Given the description of an element on the screen output the (x, y) to click on. 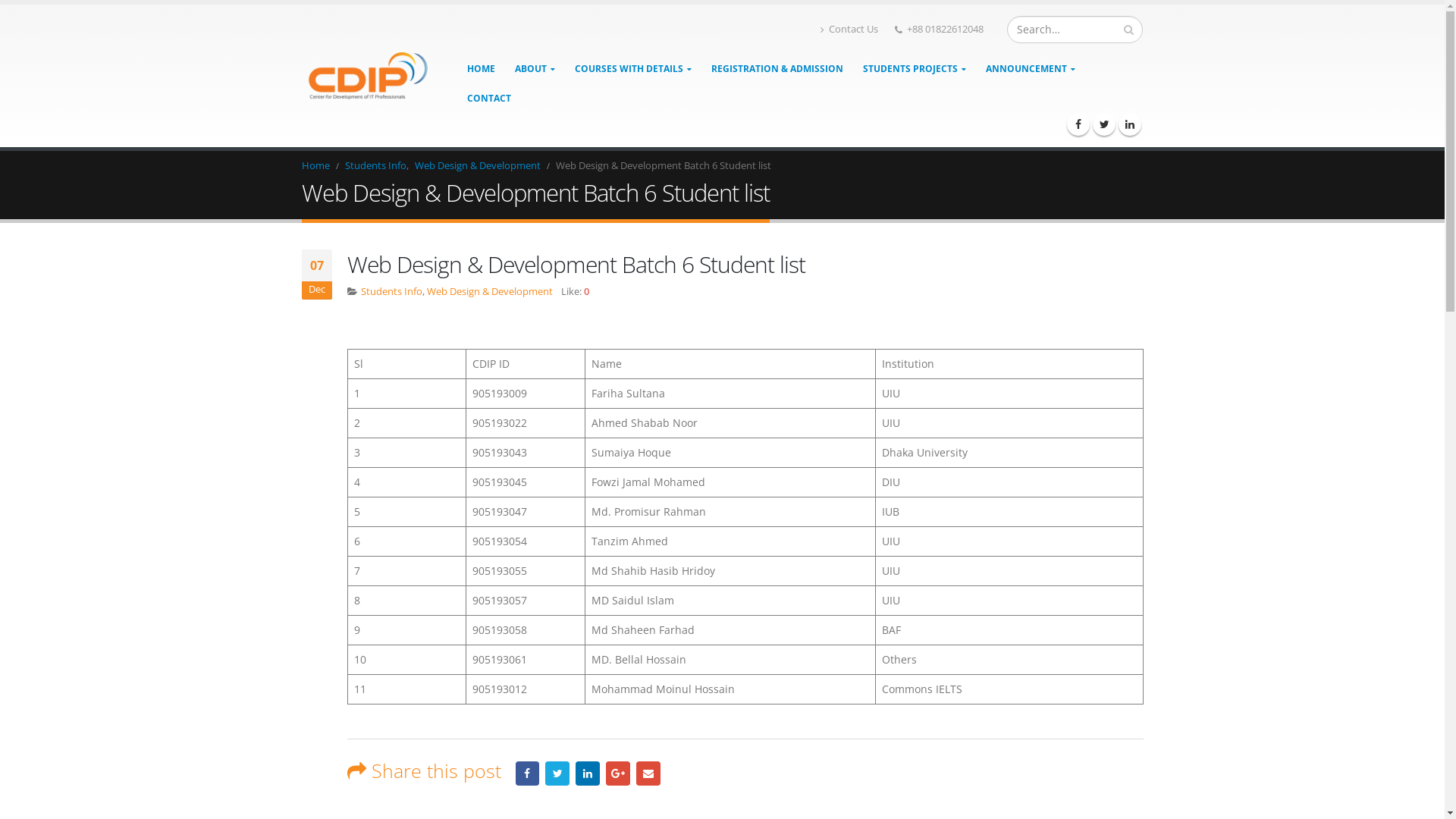
Web Design & Development Element type: text (489, 291)
Search Element type: hover (1128, 29)
Facebook Element type: text (527, 773)
REGISTRATION & ADMISSION Element type: text (777, 68)
Email Element type: text (648, 773)
Contact Us Element type: text (848, 29)
HOME Element type: text (481, 68)
Google + Element type: text (617, 773)
Web Design & Development Element type: text (476, 165)
Twitter Element type: text (557, 773)
Facebook Element type: hover (1077, 123)
ANNOUNCEMENT Element type: text (1030, 68)
LinkedIn Element type: text (587, 773)
CONTACT Element type: text (489, 98)
Students Info Element type: text (391, 291)
ABOUT Element type: text (534, 68)
Students Info Element type: text (374, 165)
Twitter Element type: hover (1103, 123)
COURSES WITH DETAILS Element type: text (632, 68)
LinkedIn Element type: hover (1129, 123)
STUDENTS PROJECTS Element type: text (914, 68)
Home Element type: text (315, 165)
